Given the description of an element on the screen output the (x, y) to click on. 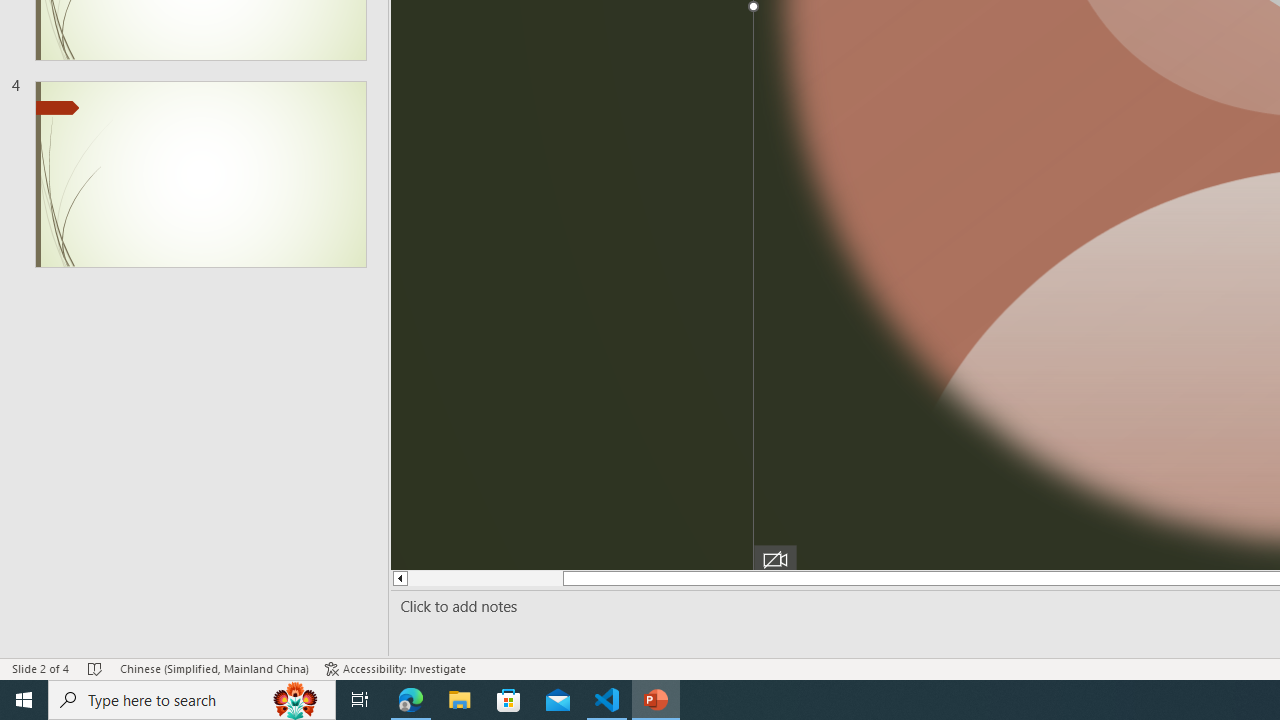
Accessibility Checker Accessibility: Investigate (395, 668)
Slide (200, 174)
Spell Check No Errors (95, 668)
